Given the description of an element on the screen output the (x, y) to click on. 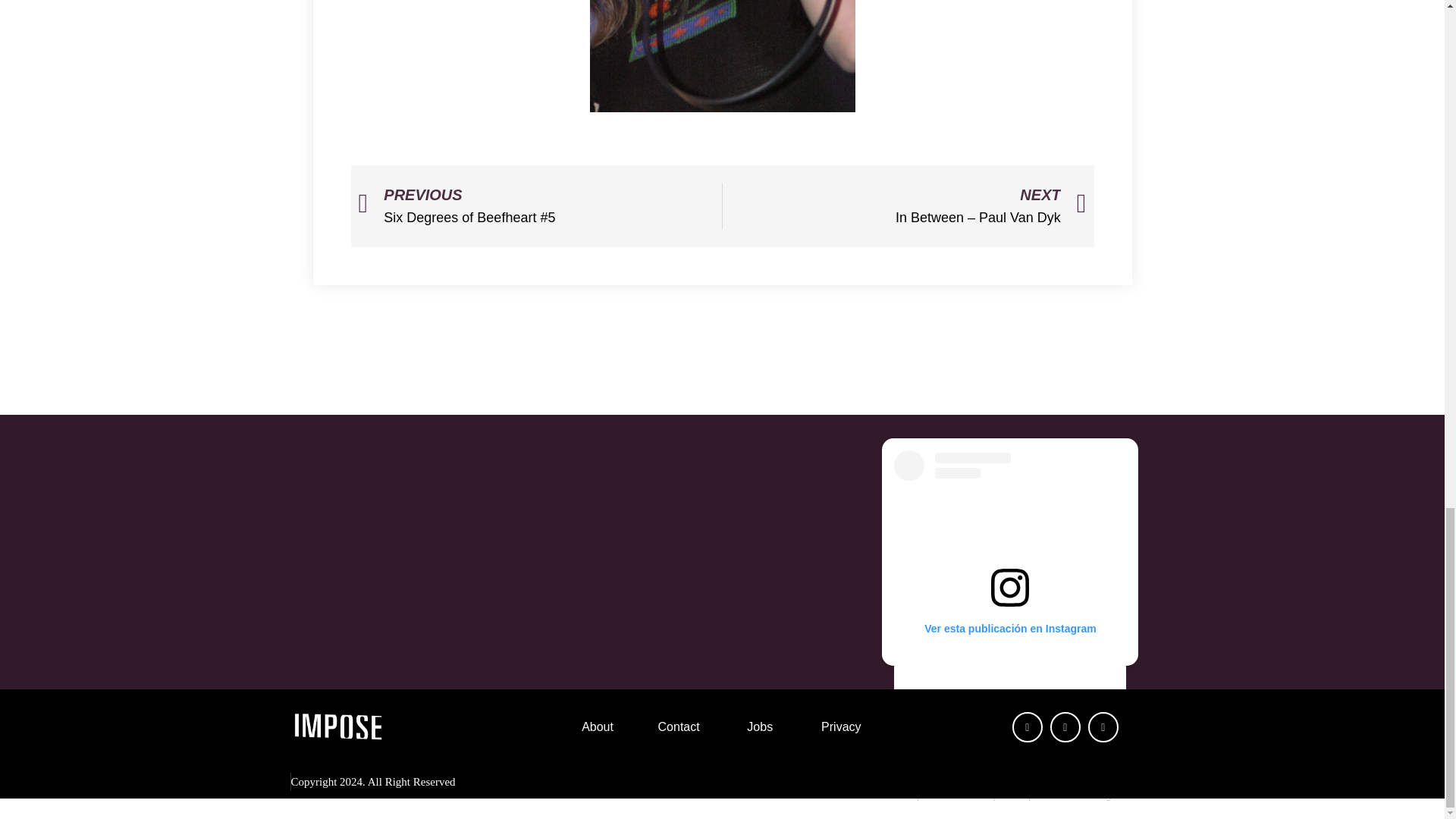
Twitter Timeline (721, 551)
About (596, 726)
Jobs (759, 726)
Privacy (840, 726)
Contact (679, 726)
